Given the description of an element on the screen output the (x, y) to click on. 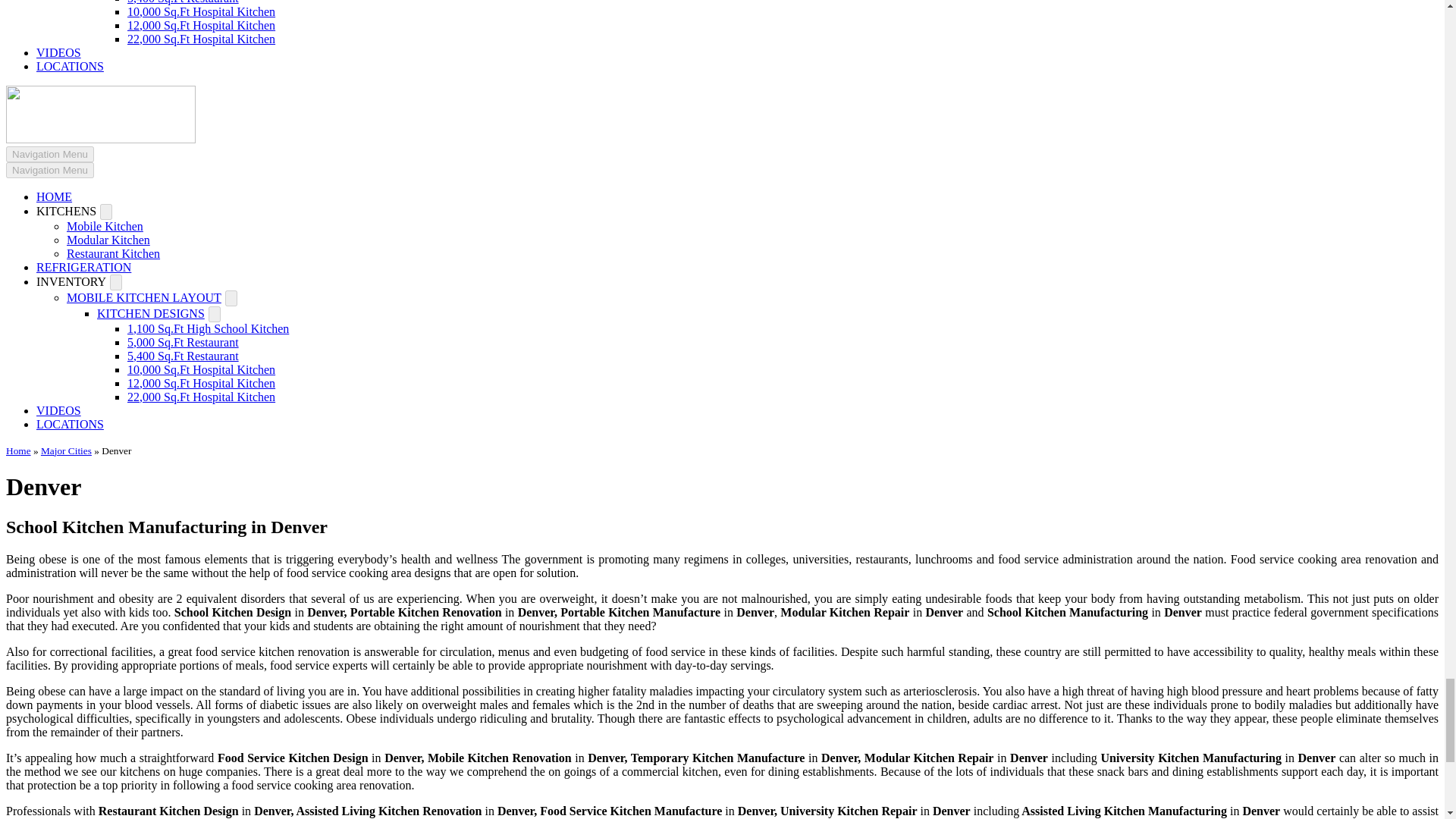
22,000 Sq.Ft Hospital Kitchen (201, 38)
Mobile Kitchen (104, 226)
5,000 Sq.Ft Restaurant (183, 341)
REFRIGERATION (83, 267)
1,100 Sq.Ft High School Kitchen (208, 328)
12,000 Sq.Ft Hospital Kitchen (201, 382)
MOBILE REFRIGERATION (83, 267)
KITCHEN DESIGNS (151, 313)
HOME (53, 196)
VIDEOS (58, 51)
LOCATIONS (69, 65)
MOBILE KITCHEN LAYOUT (143, 297)
12,000 Sq.Ft Hospital Kitchen (201, 24)
Navigation Menu (49, 170)
KITCHENS (66, 210)
